Given the description of an element on the screen output the (x, y) to click on. 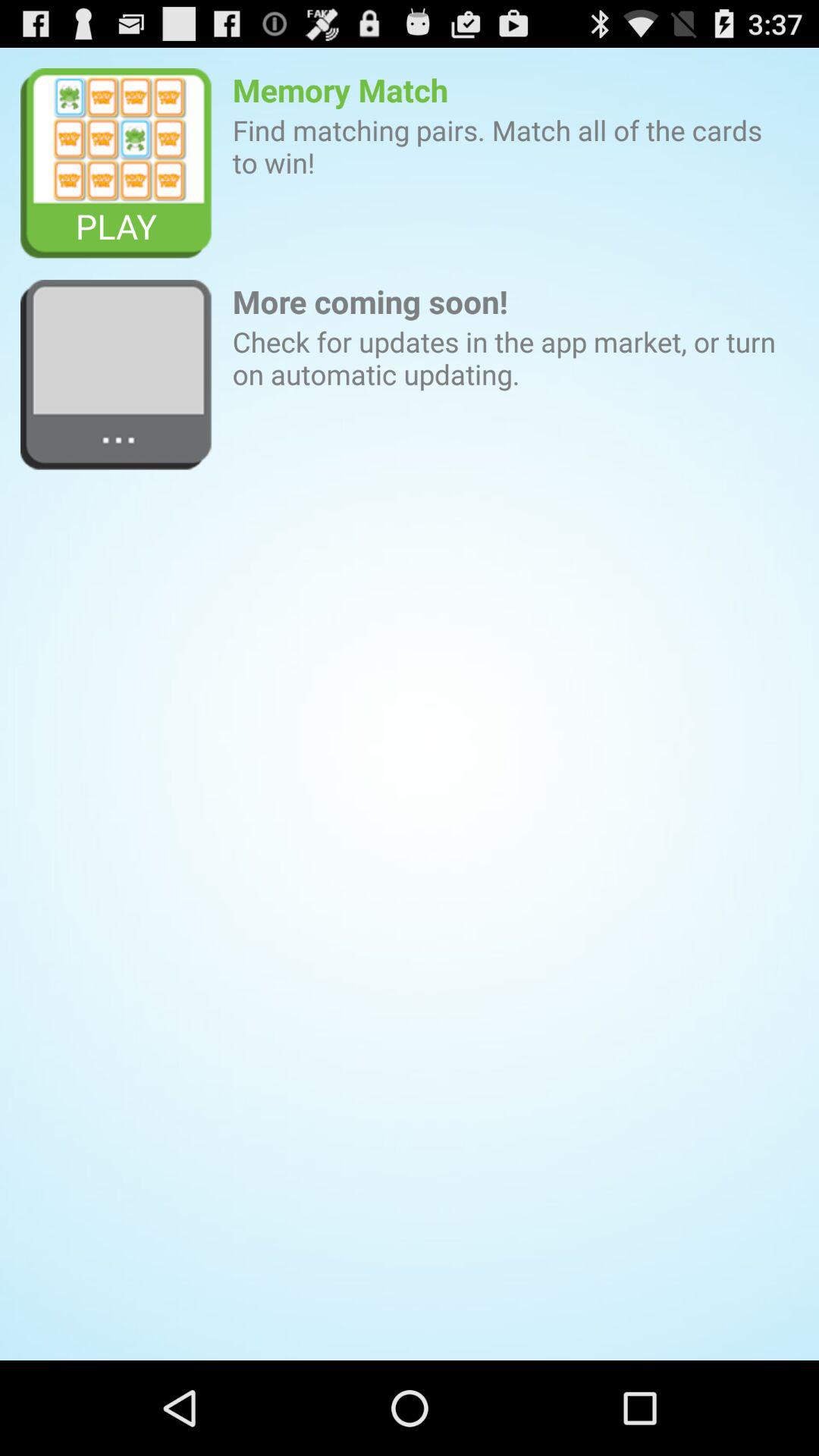
turn off the item next to memory match (116, 163)
